Given the description of an element on the screen output the (x, y) to click on. 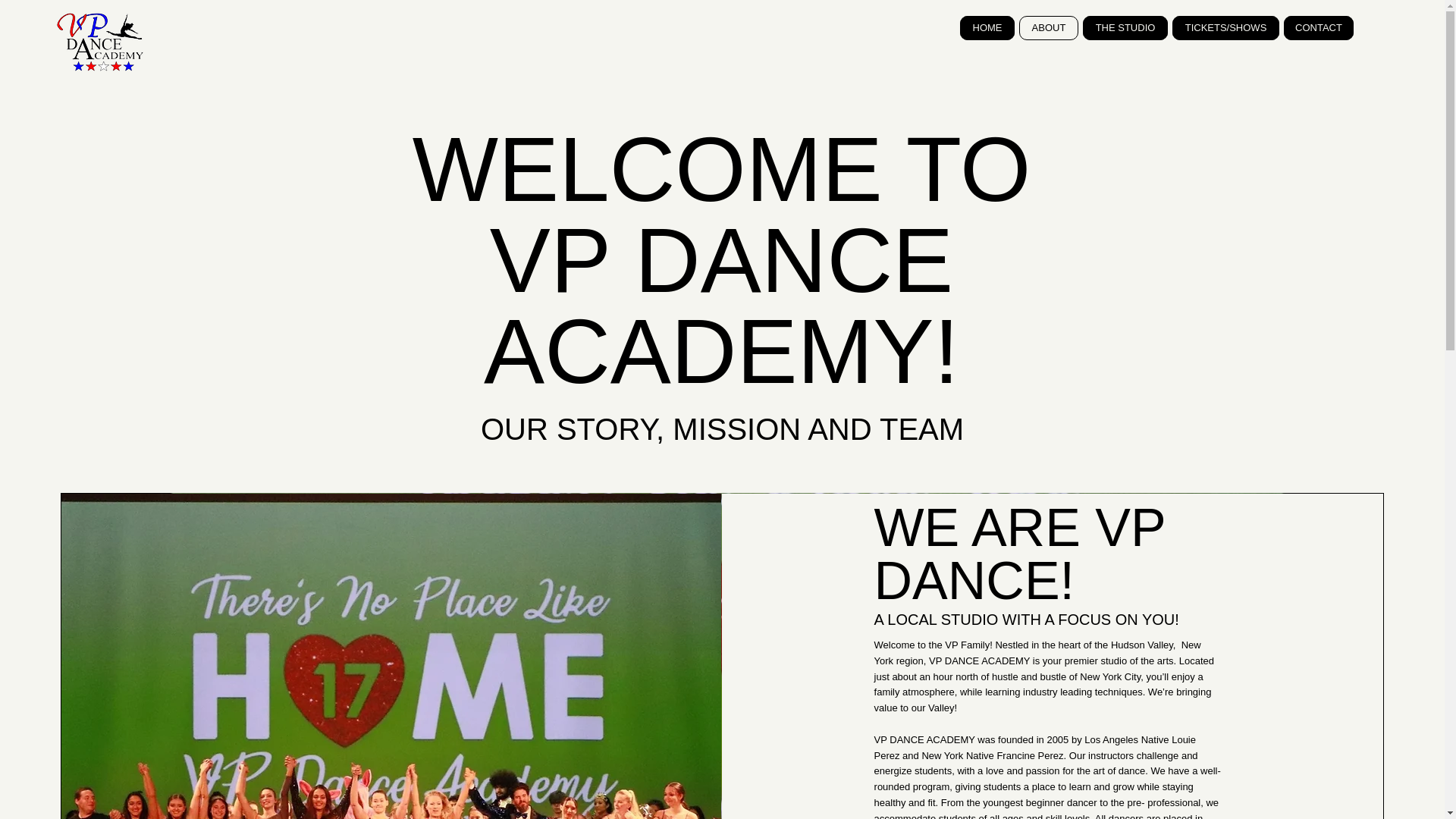
CONTACT (1319, 27)
HOME (986, 27)
THE STUDIO (1125, 27)
ABOUT (1048, 27)
